Given the description of an element on the screen output the (x, y) to click on. 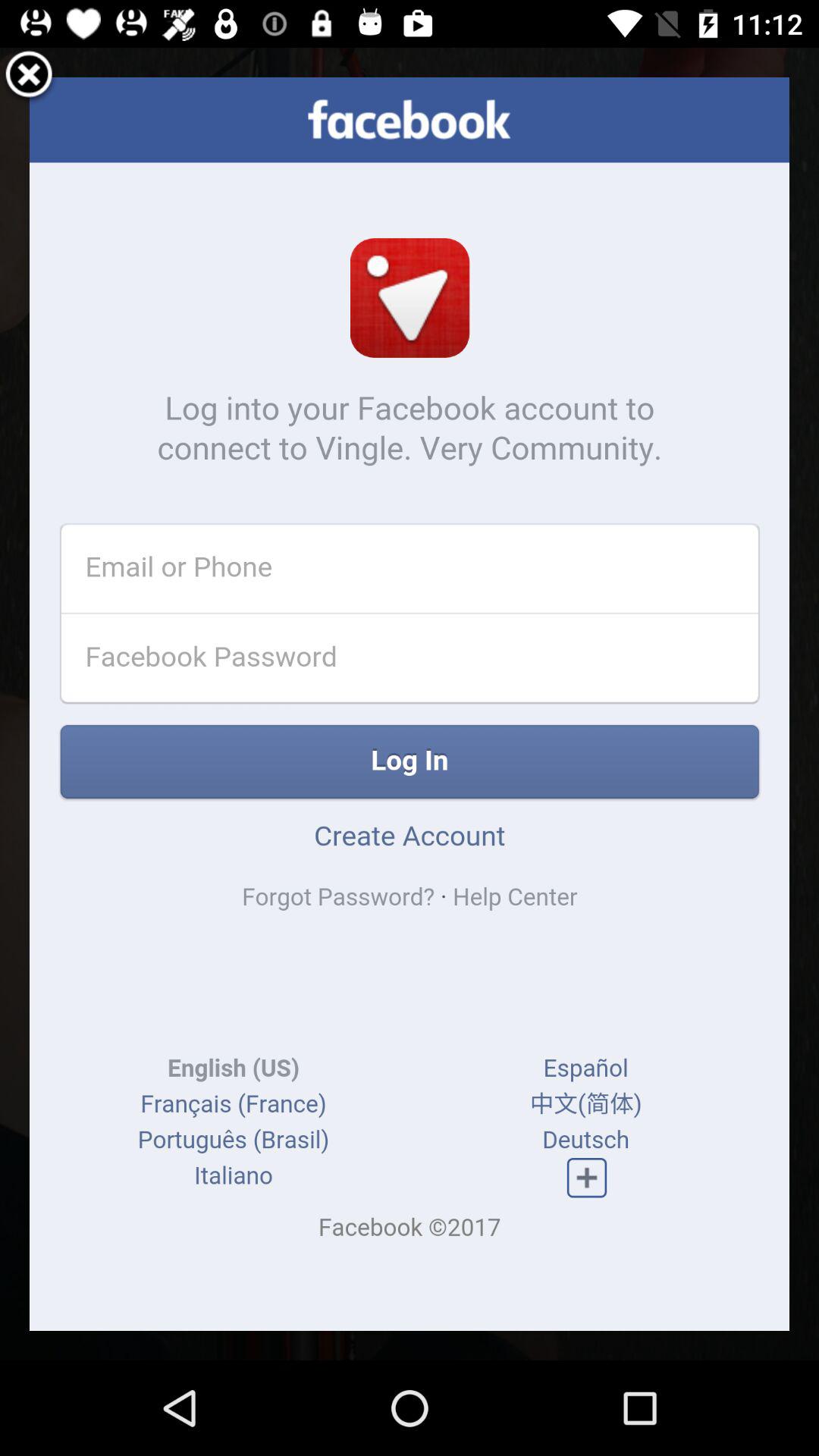
choose item at the center (409, 703)
